Given the description of an element on the screen output the (x, y) to click on. 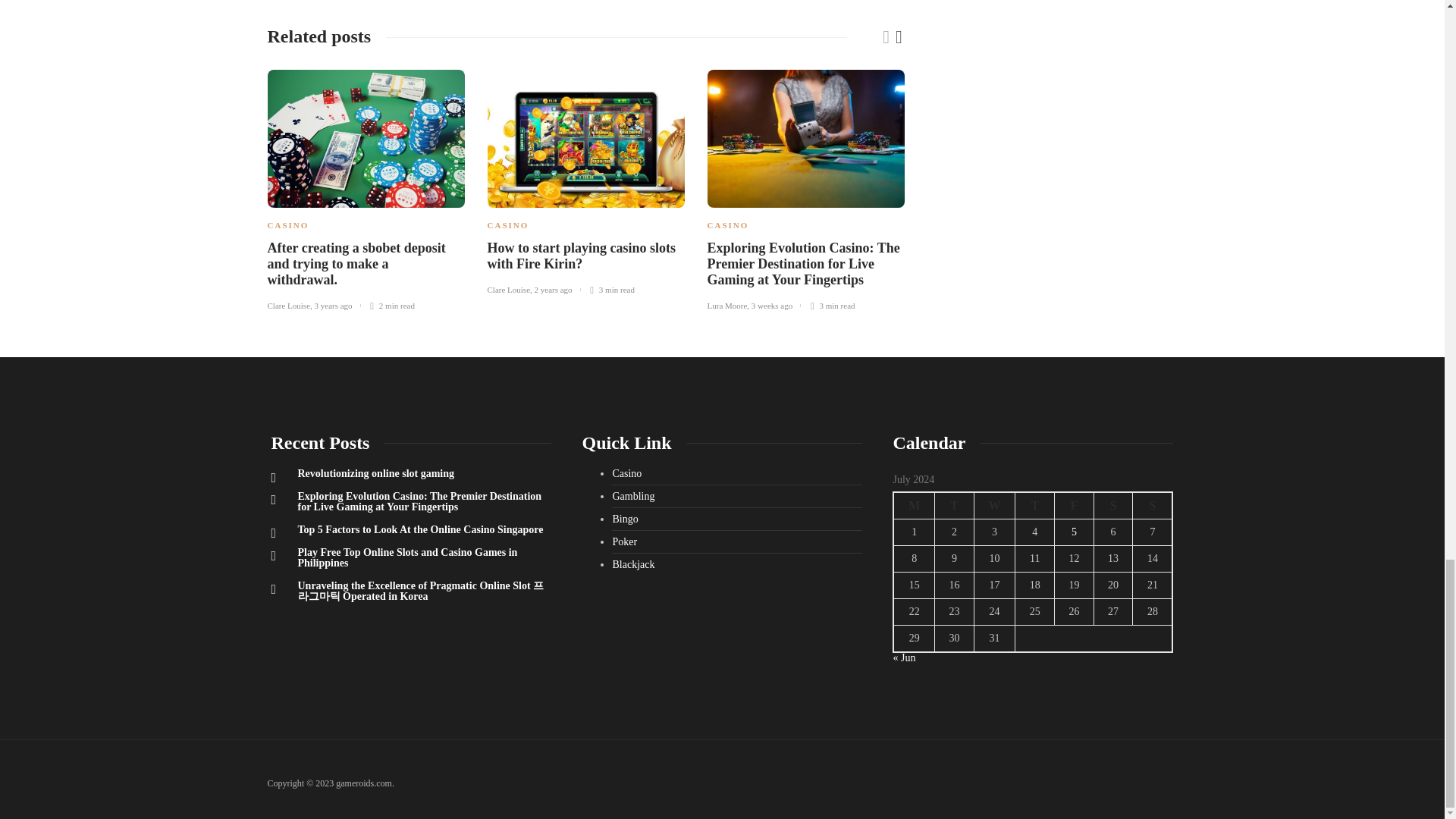
Saturday (1112, 505)
Wednesday (994, 505)
Tuesday (954, 505)
Monday (913, 505)
Thursday (1034, 505)
Sunday (1152, 505)
Friday (1074, 505)
